Given the description of an element on the screen output the (x, y) to click on. 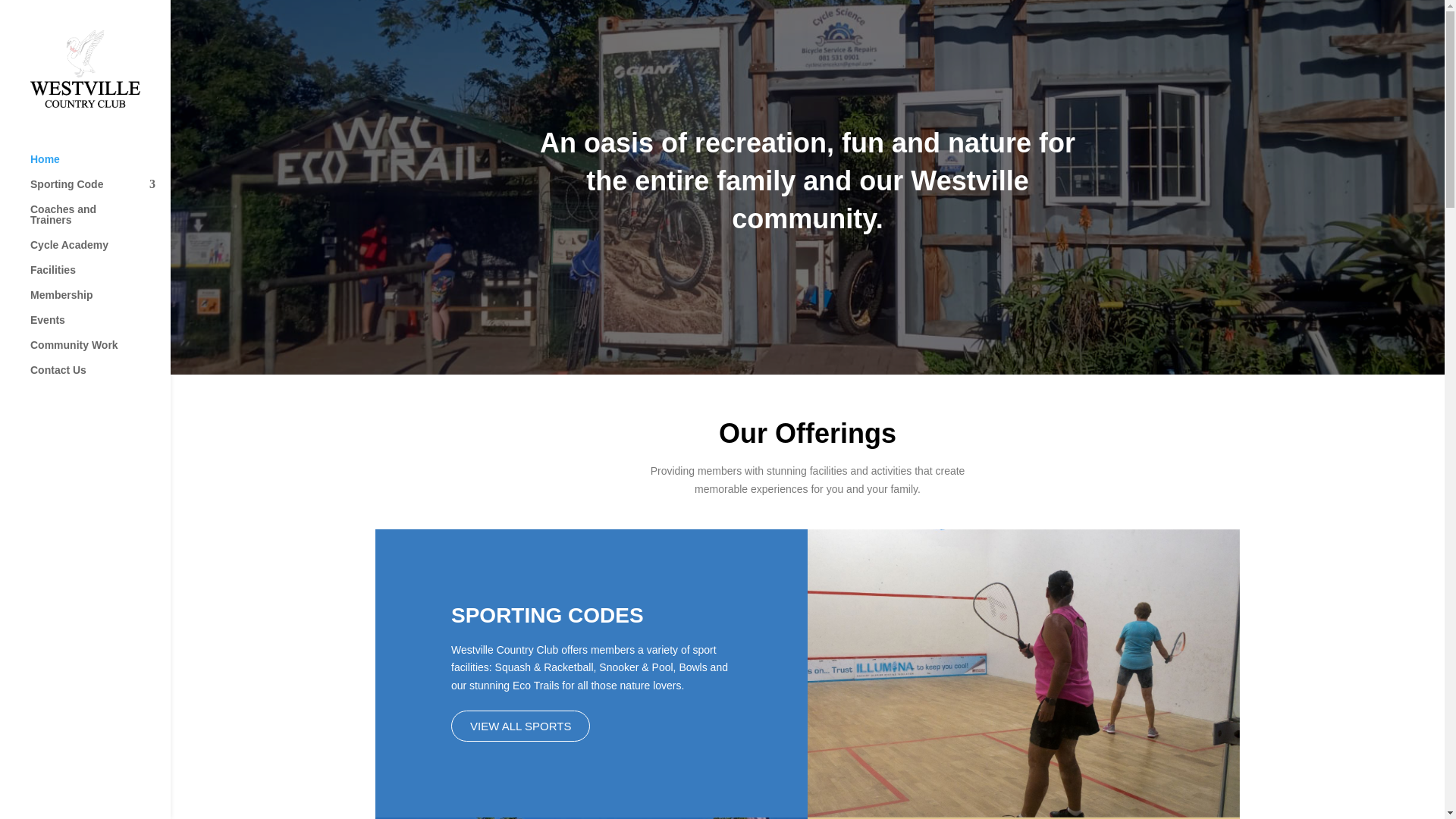
VIEW ALL SPORTS (520, 726)
Coaches and Trainers (100, 221)
Community Work (100, 351)
Membership (100, 301)
Contact Us (100, 376)
Home (100, 166)
Cycle Academy (100, 251)
Events (100, 326)
Facilities (100, 276)
Sporting Code (100, 191)
